Given the description of an element on the screen output the (x, y) to click on. 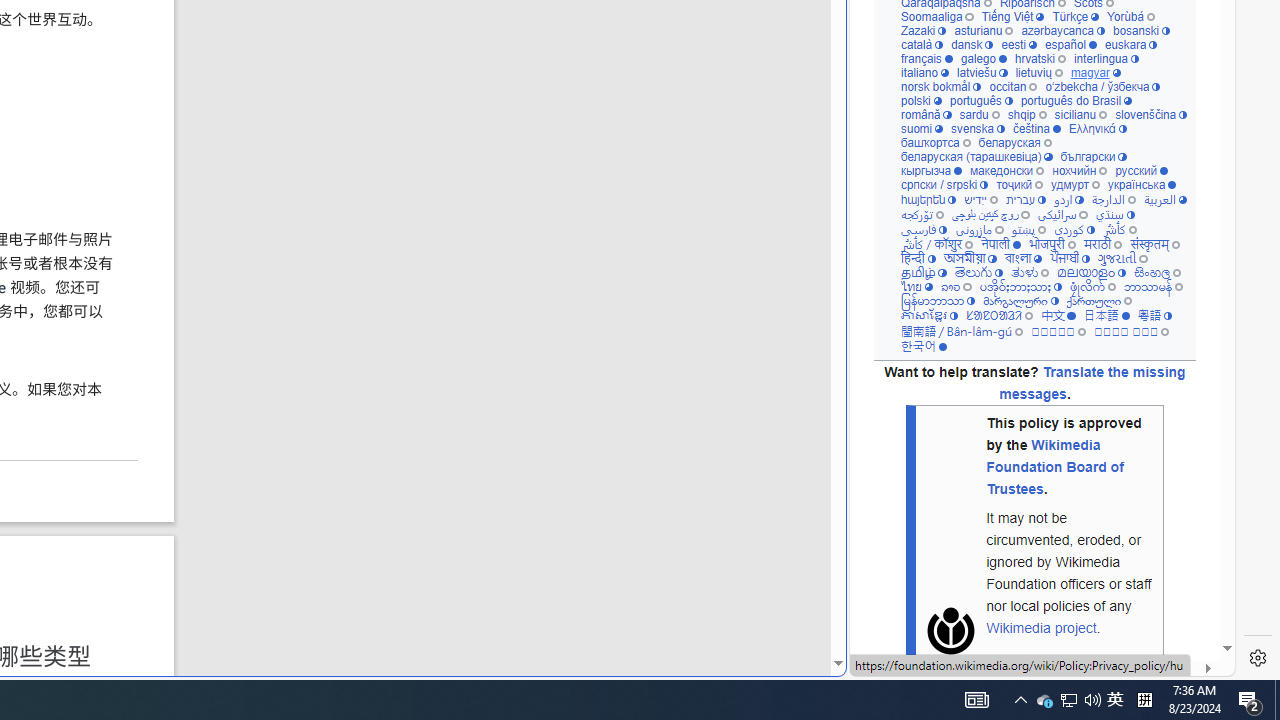
eesti (1018, 45)
Zazaki (923, 30)
sardu (978, 115)
